Given the description of an element on the screen output the (x, y) to click on. 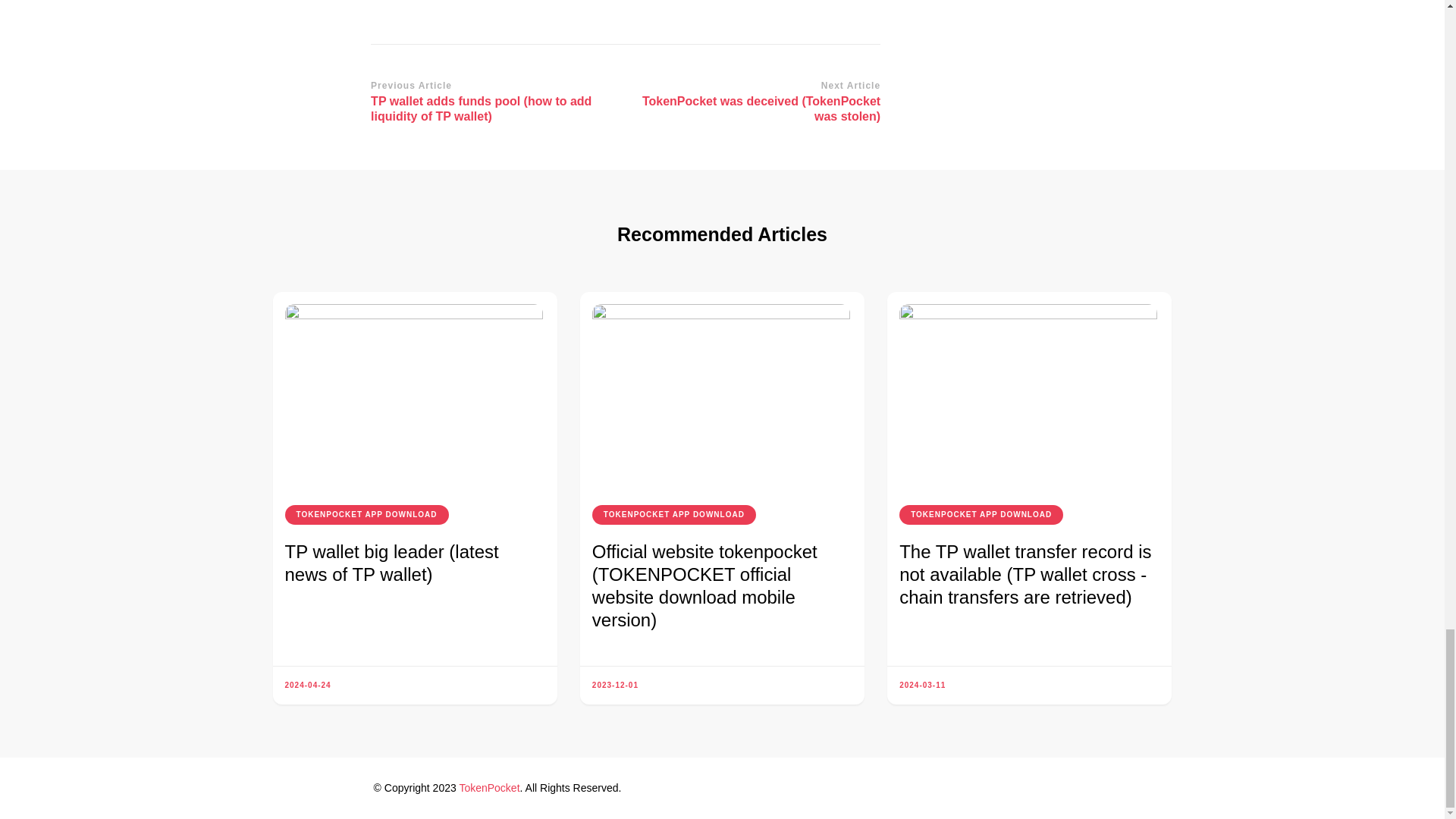
TOKENPOCKET APP DOWNLOAD (366, 514)
